Given the description of an element on the screen output the (x, y) to click on. 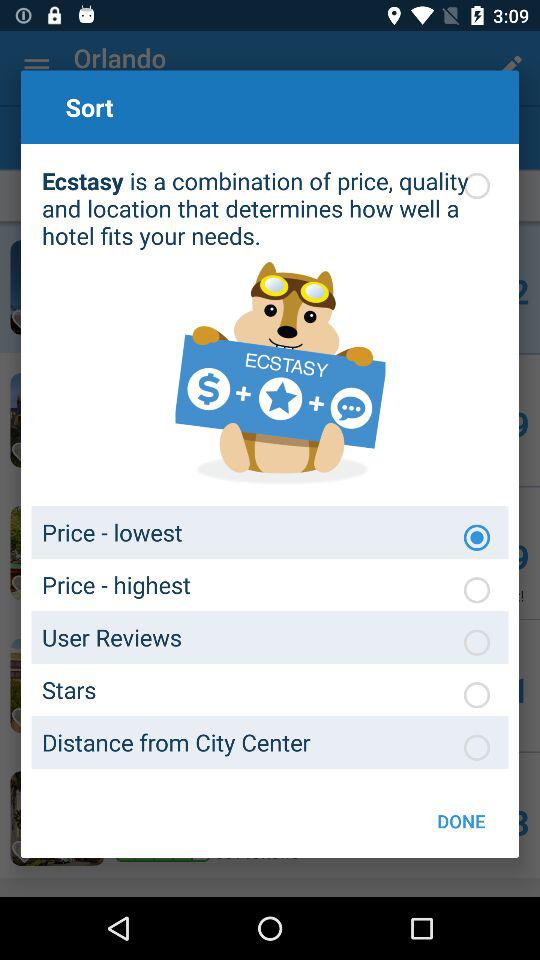
go do selagt (477, 590)
